Given the description of an element on the screen output the (x, y) to click on. 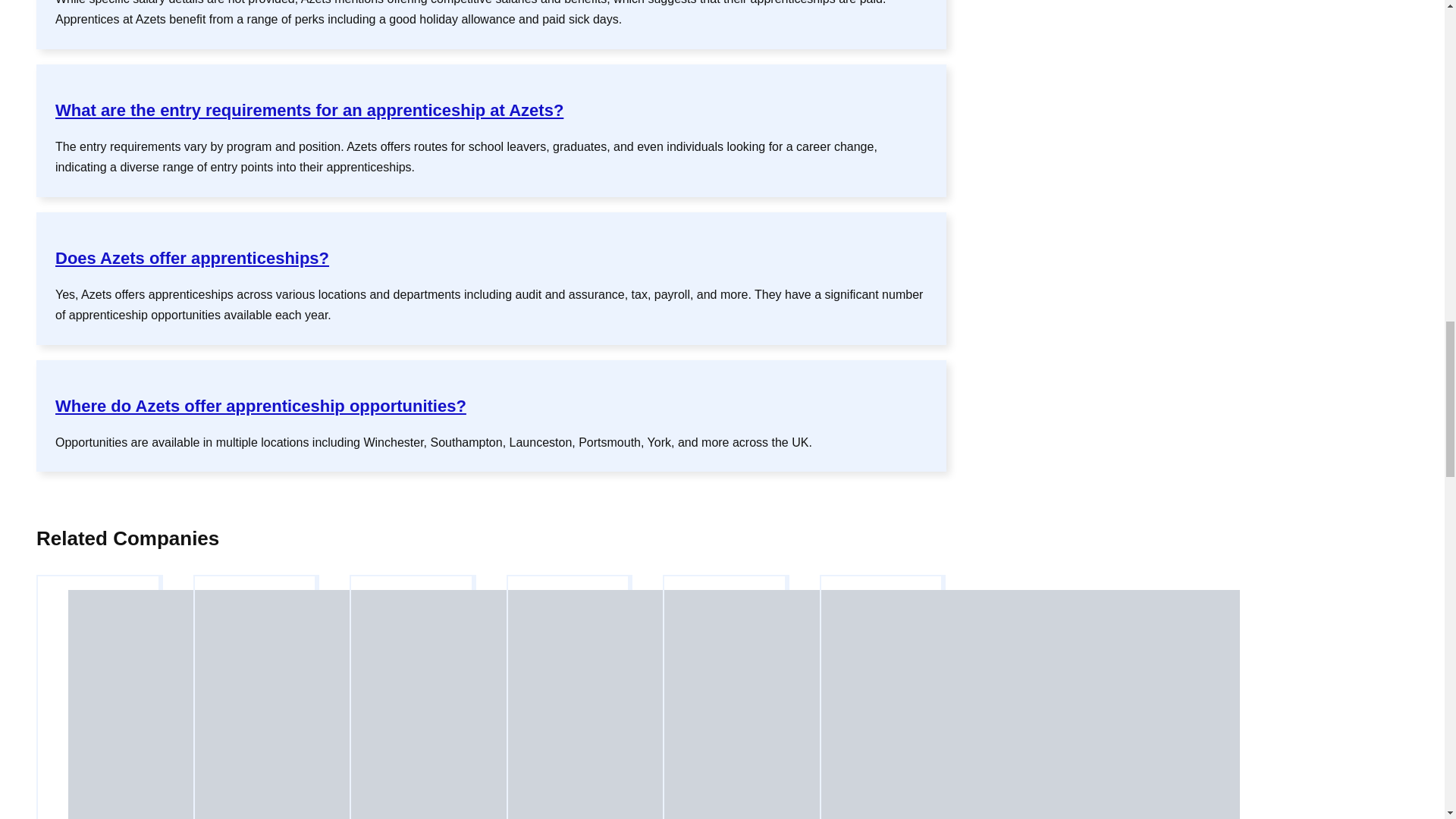
Where do Azets offer apprenticeship opportunities? (260, 404)
Does Azets offer apprenticeships? (192, 257)
